Given the description of an element on the screen output the (x, y) to click on. 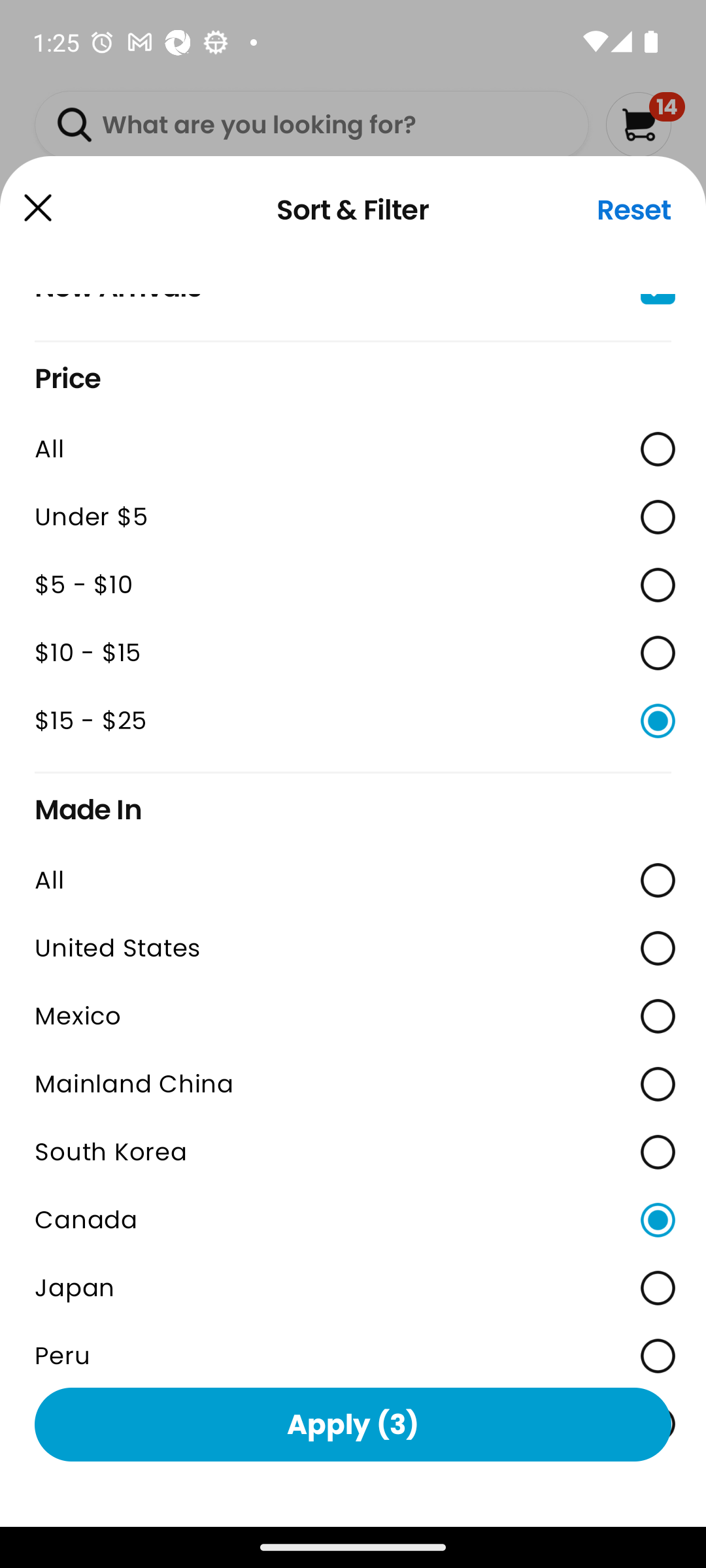
Reset (633, 209)
Apply (3) (352, 1424)
